Given the description of an element on the screen output the (x, y) to click on. 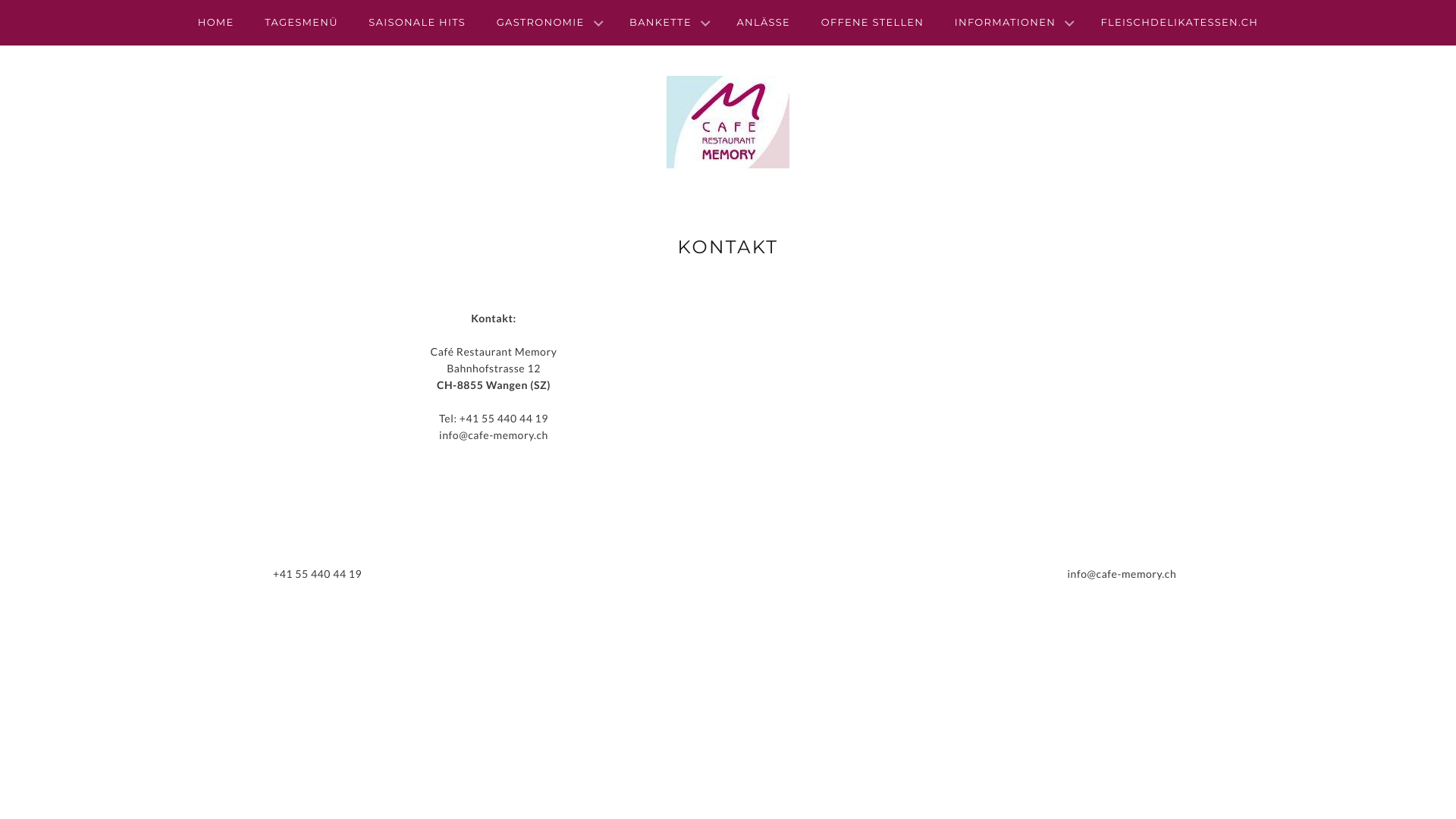
SAISONALE HITS Element type: text (416, 22)
HOME Element type: text (215, 22)
OFFENE STELLEN Element type: text (872, 22)
FLEISCHDELIKATESSEN.CH Element type: text (1179, 22)
